Given the description of an element on the screen output the (x, y) to click on. 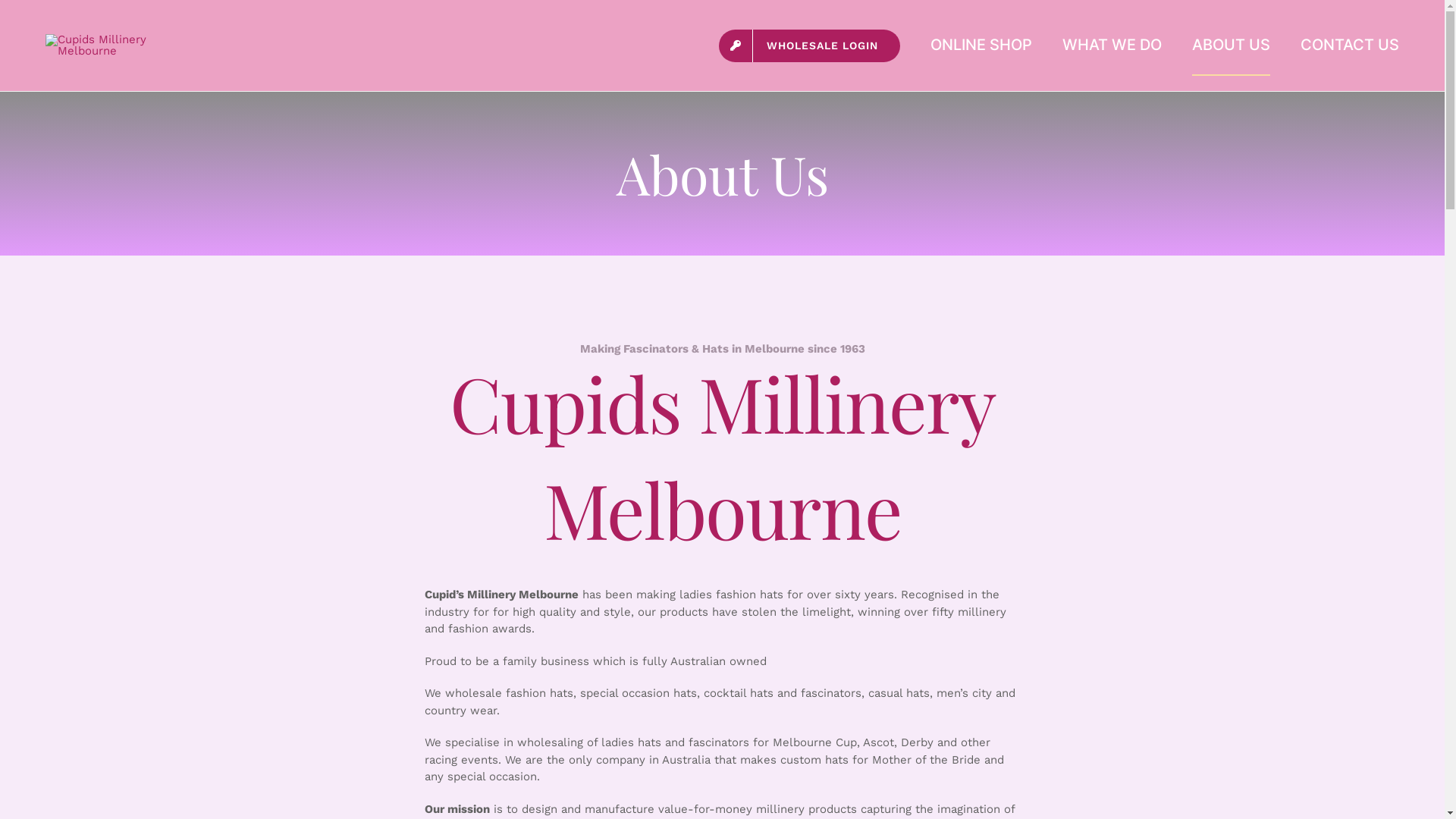
CONTACT US Element type: text (1349, 45)
ONLINE SHOP Element type: text (981, 45)
ABOUT US Element type: text (1231, 45)
WHOLESALE LOGIN Element type: text (809, 45)
WHAT WE DO Element type: text (1111, 45)
